Given the description of an element on the screen output the (x, y) to click on. 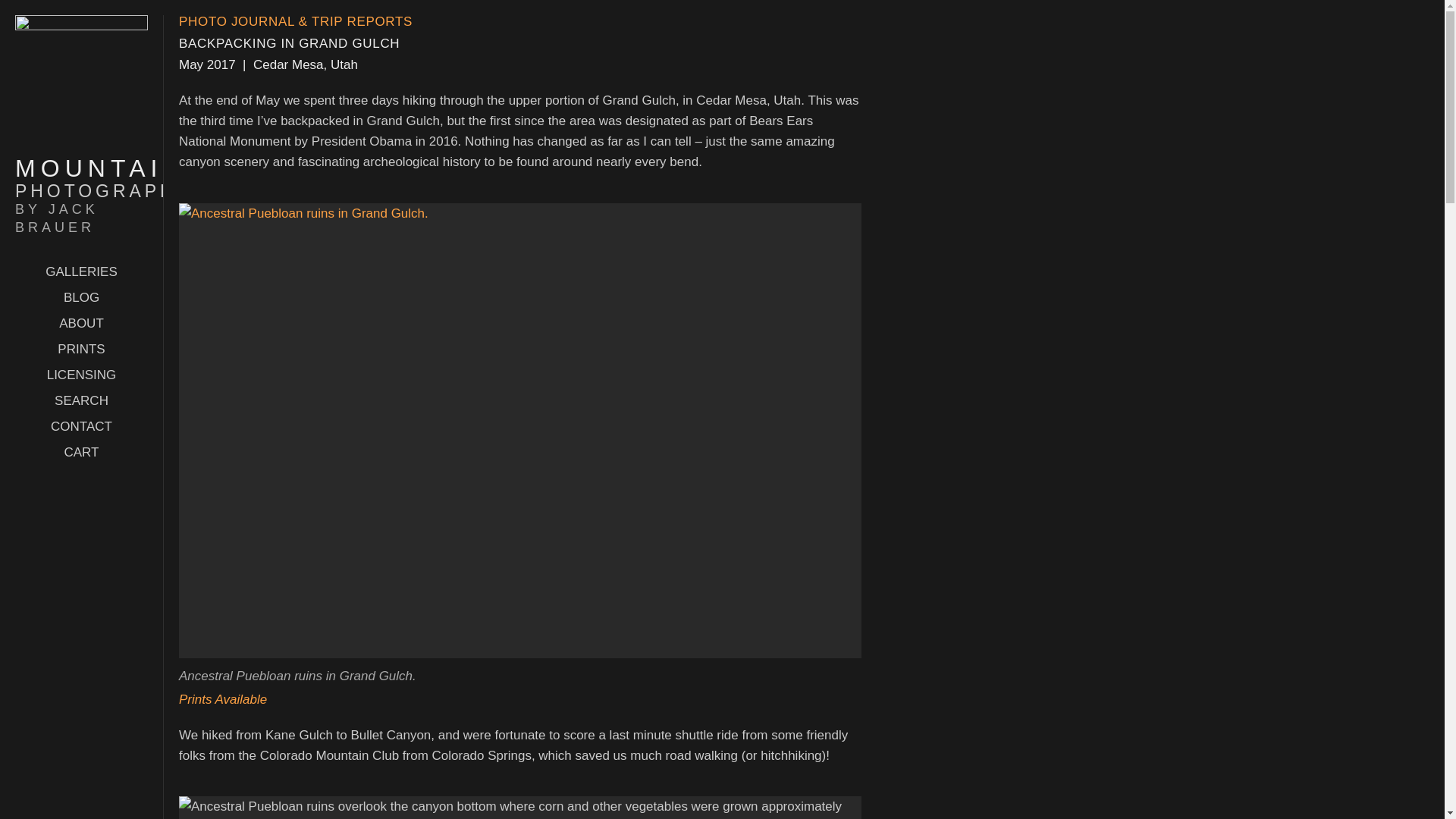
PRINTS (81, 349)
CART (81, 452)
Mountain Photography by Jack Brauer (81, 137)
CONTACT (81, 426)
ABOUT (81, 323)
LICENSING (81, 374)
GALLERIES (81, 271)
Ancient Patio (520, 807)
Mountain Photography by Jack Brauer (81, 195)
SEARCH (81, 195)
BLOG (81, 400)
Prints Available (81, 297)
